Given the description of an element on the screen output the (x, y) to click on. 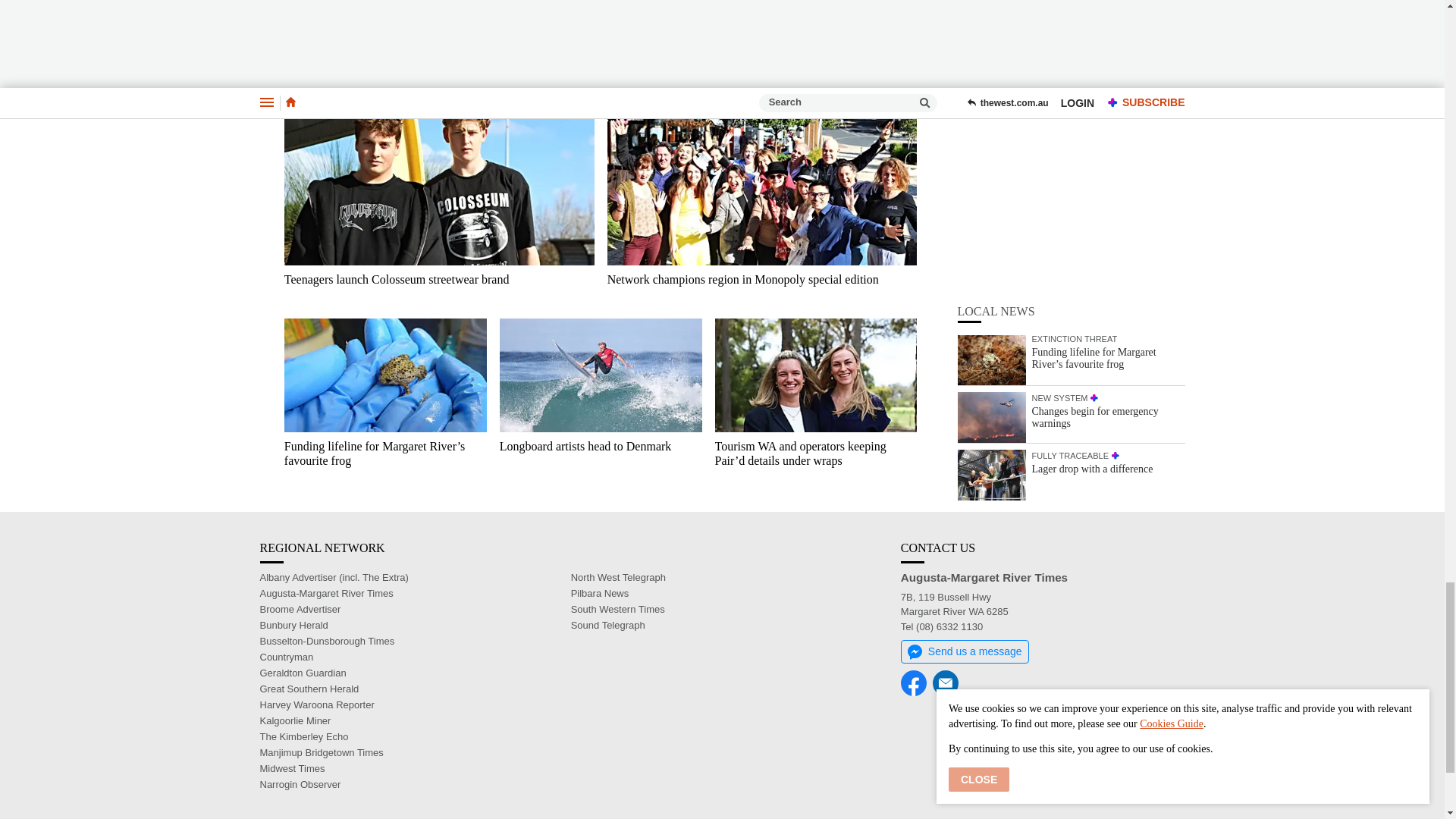
Books boss Carmen Grau seeking votes for seed funding (600, 11)
Stan series Scrubland wants extras for Augusta film shoot (384, 11)
Teenagers launch Colosseum streetwear brand (438, 177)
Reward for return of stolen artworks (815, 51)
Stan series Scrubland wants extras for Augusta film shoot (384, 51)
Books boss Carmen Grau seeking votes for seed funding (600, 51)
Reward for return of stolen artworks (815, 11)
Teenagers launch Colosseum streetwear brand (438, 286)
